Given the description of an element on the screen output the (x, y) to click on. 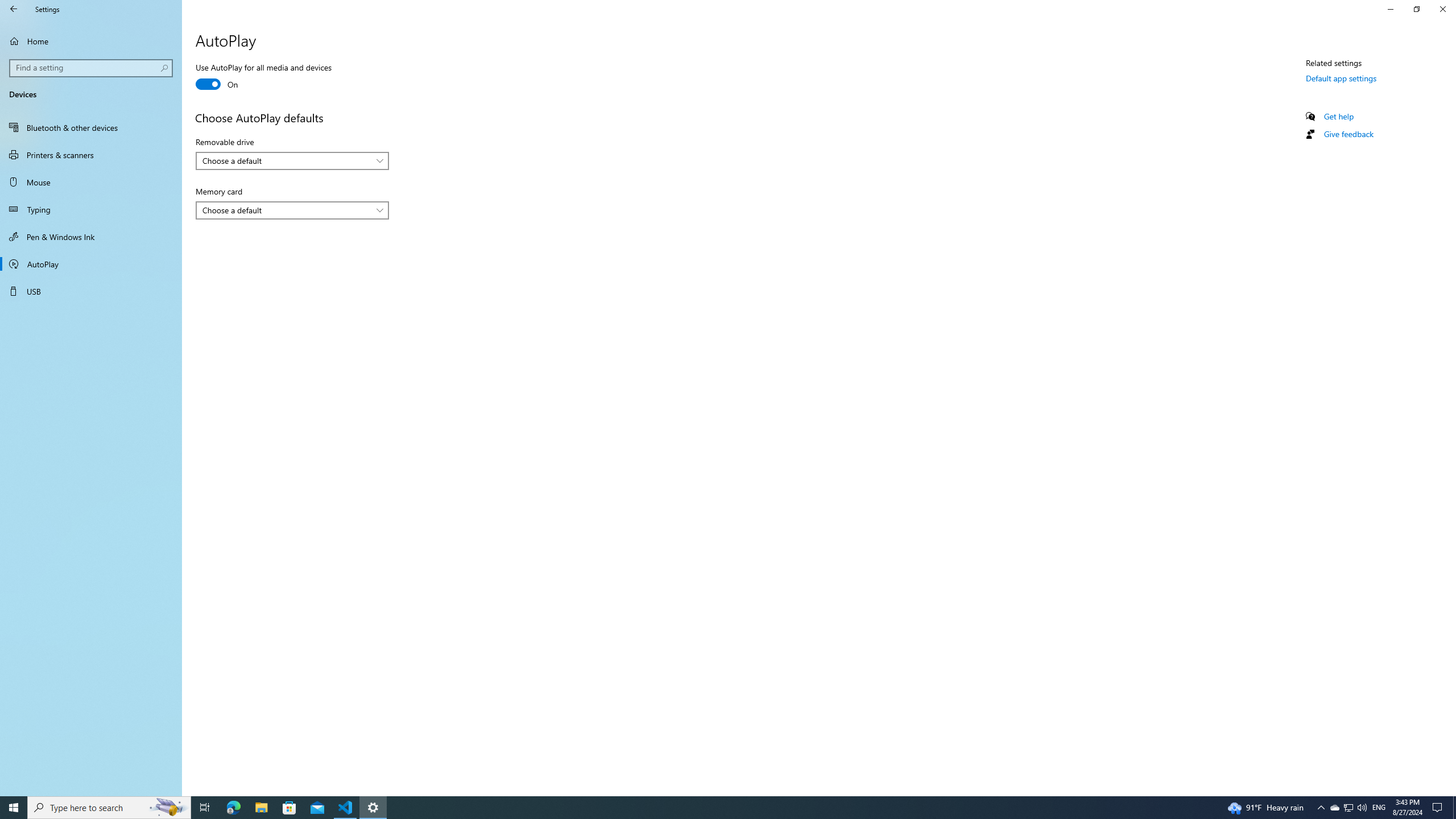
Default app settings (1341, 77)
Mouse (91, 181)
Removable drive (291, 160)
USB (91, 290)
Memory card (291, 210)
Use AutoPlay for all media and devices (263, 77)
Printers & scanners (91, 154)
